Given the description of an element on the screen output the (x, y) to click on. 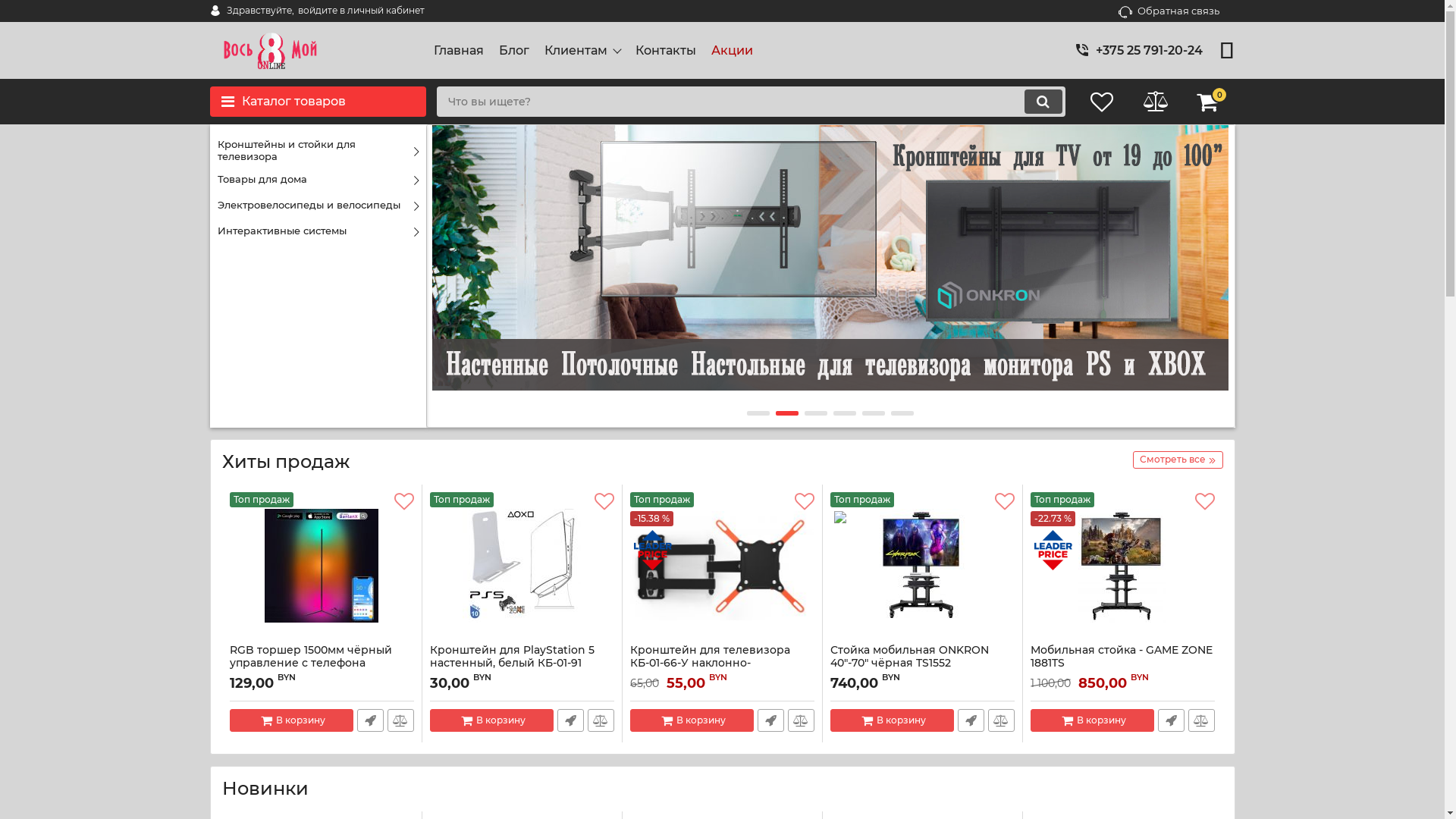
langfr-560px-logo_leader_price_-_2017.svg.png Element type: hover (1053, 550)
+375 25 791-20-24 Element type: text (1149, 49)
langfr-560px-logo_leader_price_-_2017.svg.png Element type: hover (652, 550)
black-friday.png Element type: hover (853, 518)
